Given the description of an element on the screen output the (x, y) to click on. 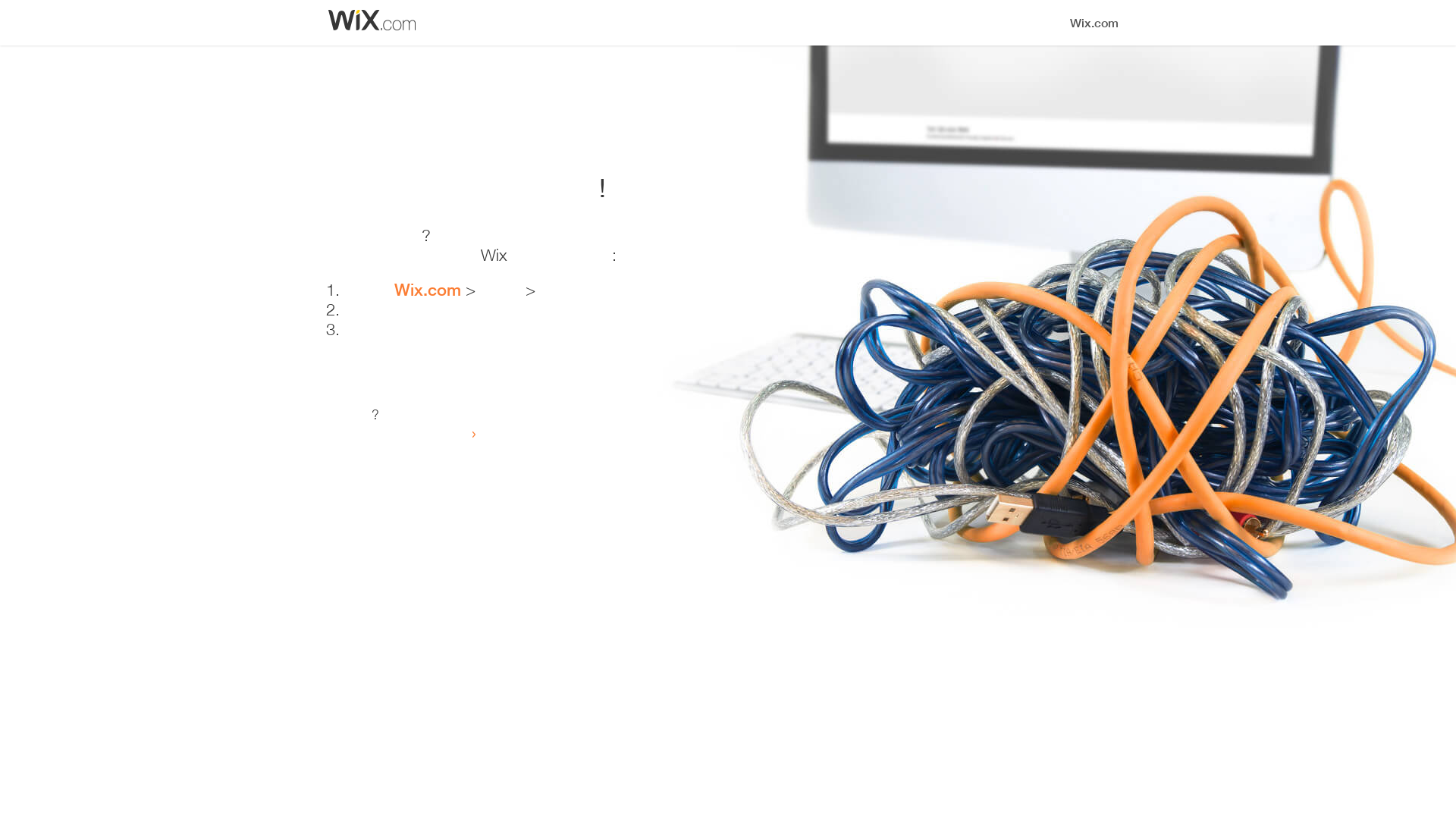
Wix.com Element type: text (429, 289)
